Given the description of an element on the screen output the (x, y) to click on. 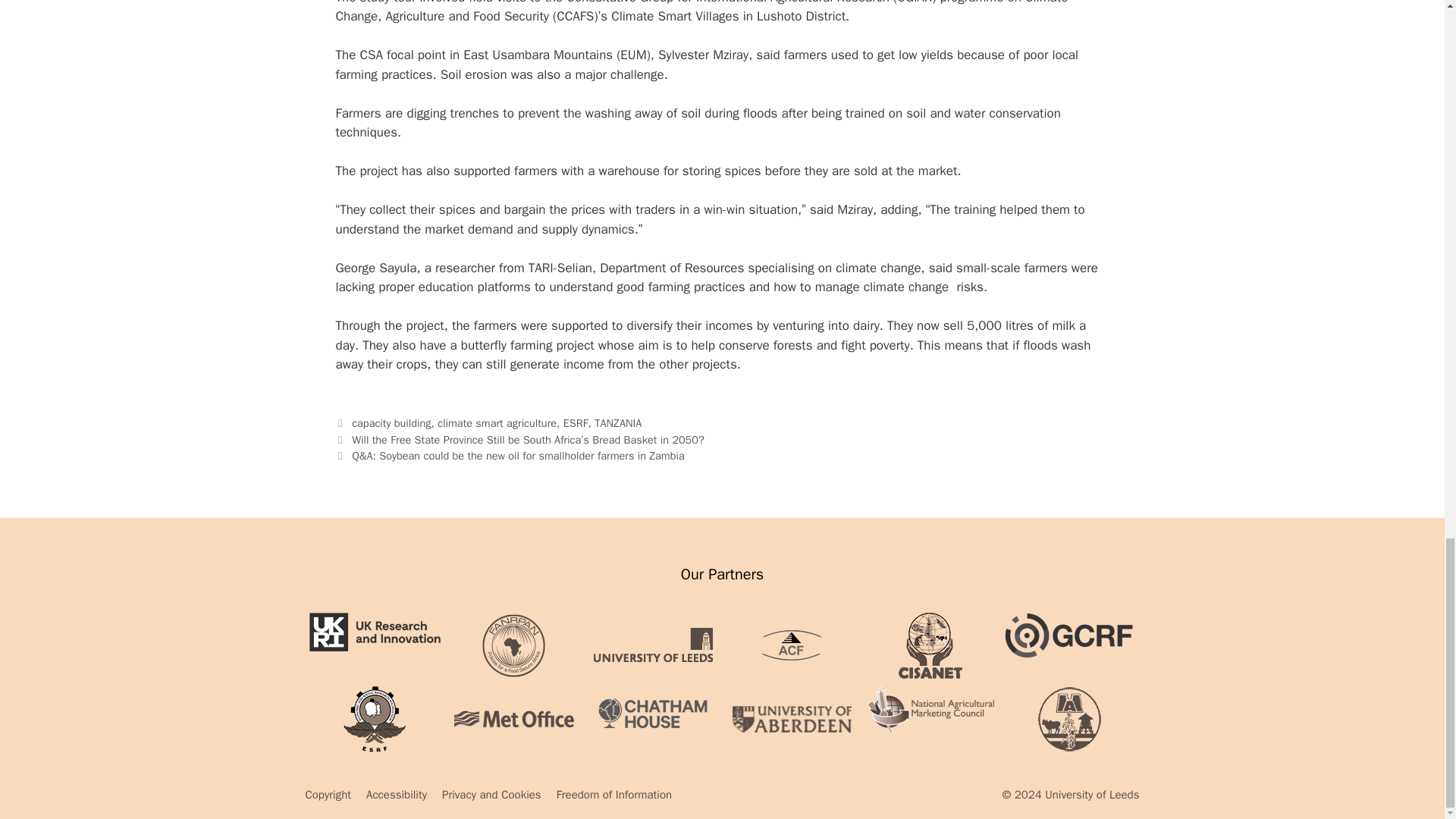
climate smart agriculture (497, 422)
Next (509, 455)
Previous (518, 439)
TANZANIA (618, 422)
ESRF (575, 422)
capacity building (391, 422)
